Given the description of an element on the screen output the (x, y) to click on. 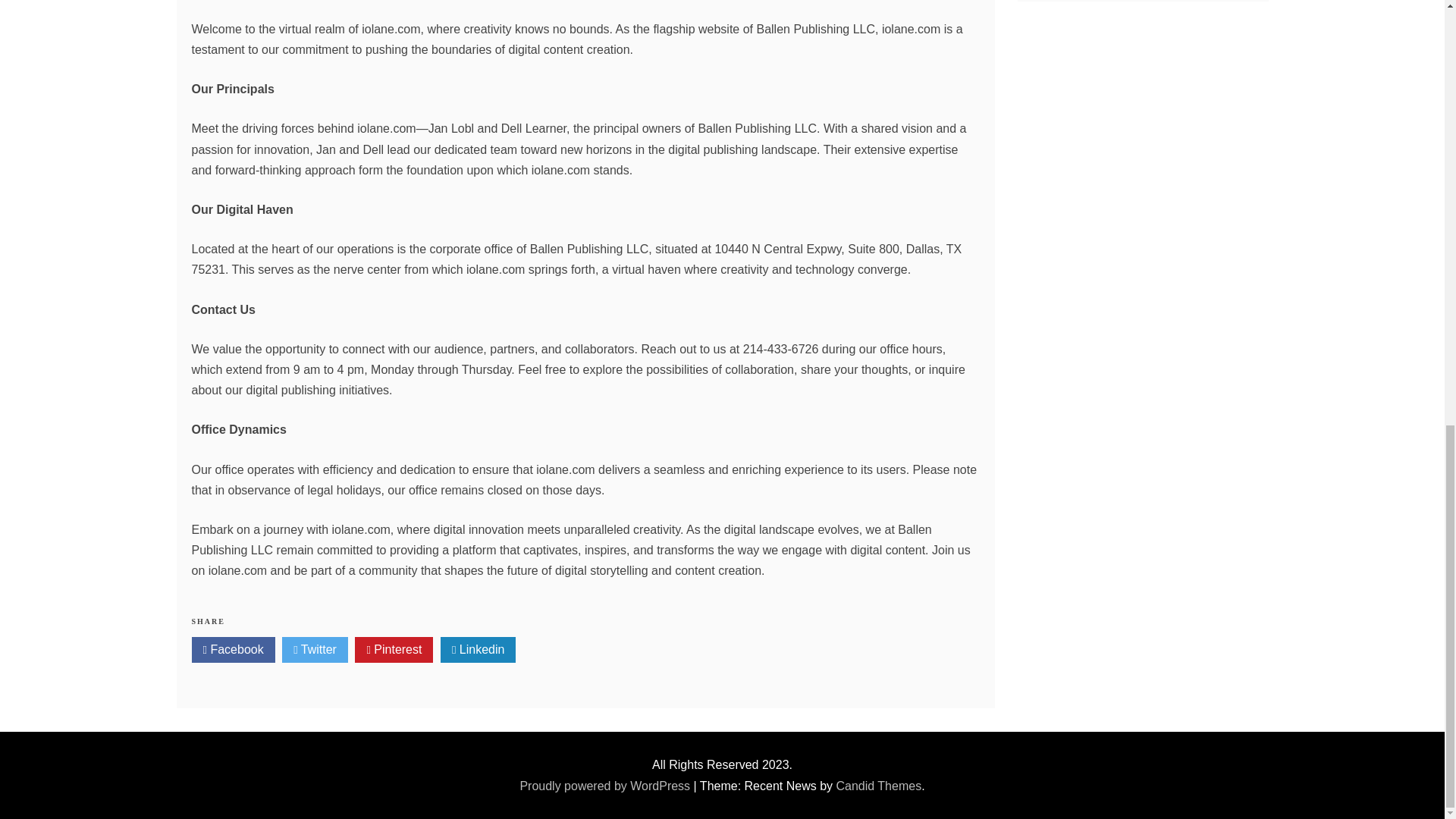
Twitter (314, 649)
Linkedin (478, 649)
Pinterest (393, 649)
Candid Themes (878, 785)
Facebook (232, 649)
Proudly powered by WordPress (606, 785)
